Given the description of an element on the screen output the (x, y) to click on. 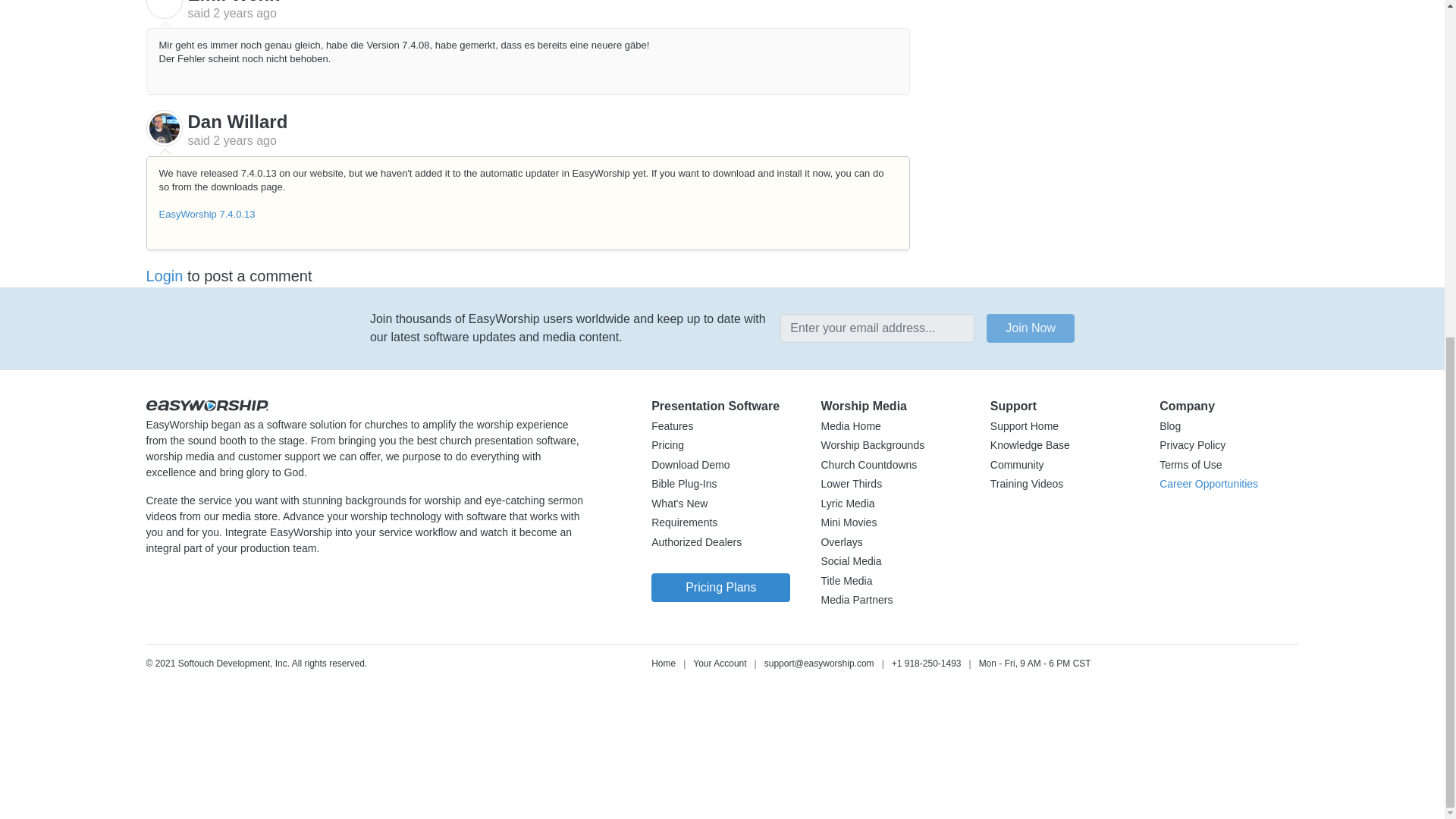
Worship Backgrounds (872, 445)
Authorized Dealers (695, 542)
Download Demo (690, 465)
Features (671, 427)
What's New (678, 504)
Requirements (683, 522)
Chat (113, 757)
Mon, 28 Nov, 2022 at 11:08 AM (244, 140)
EasyWorship 7.4.0.13 (207, 214)
Pricing (667, 445)
Login (164, 275)
Media Home (850, 427)
Pricing Plans (720, 587)
Bible Plug-Ins (683, 484)
Sun, 27 Nov, 2022 at  9:04 AM (244, 12)
